Given the description of an element on the screen output the (x, y) to click on. 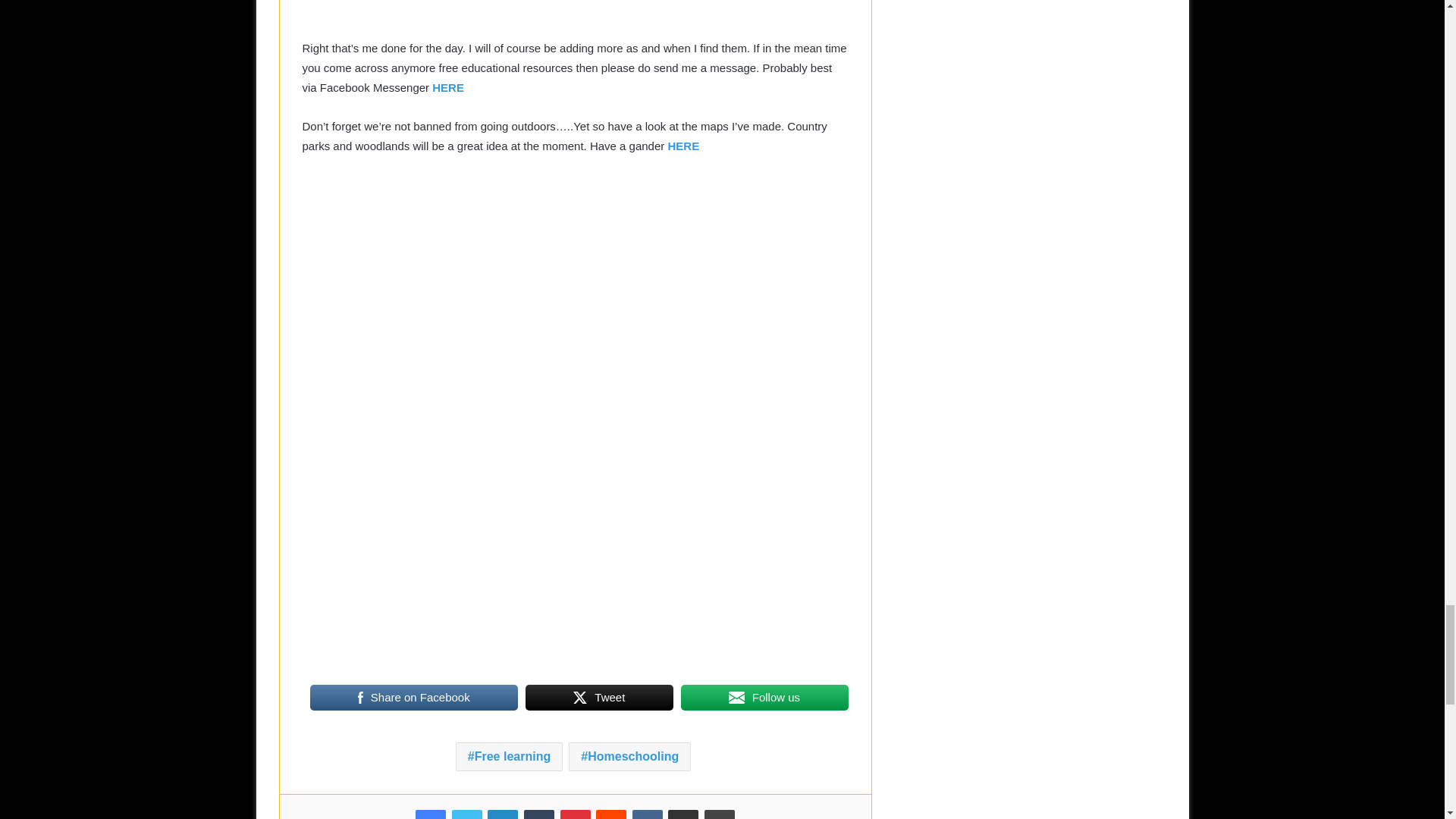
Tumblr (539, 814)
LinkedIn (502, 814)
Twitter (466, 814)
Facebook (429, 814)
Pinterest (574, 814)
